Given the description of an element on the screen output the (x, y) to click on. 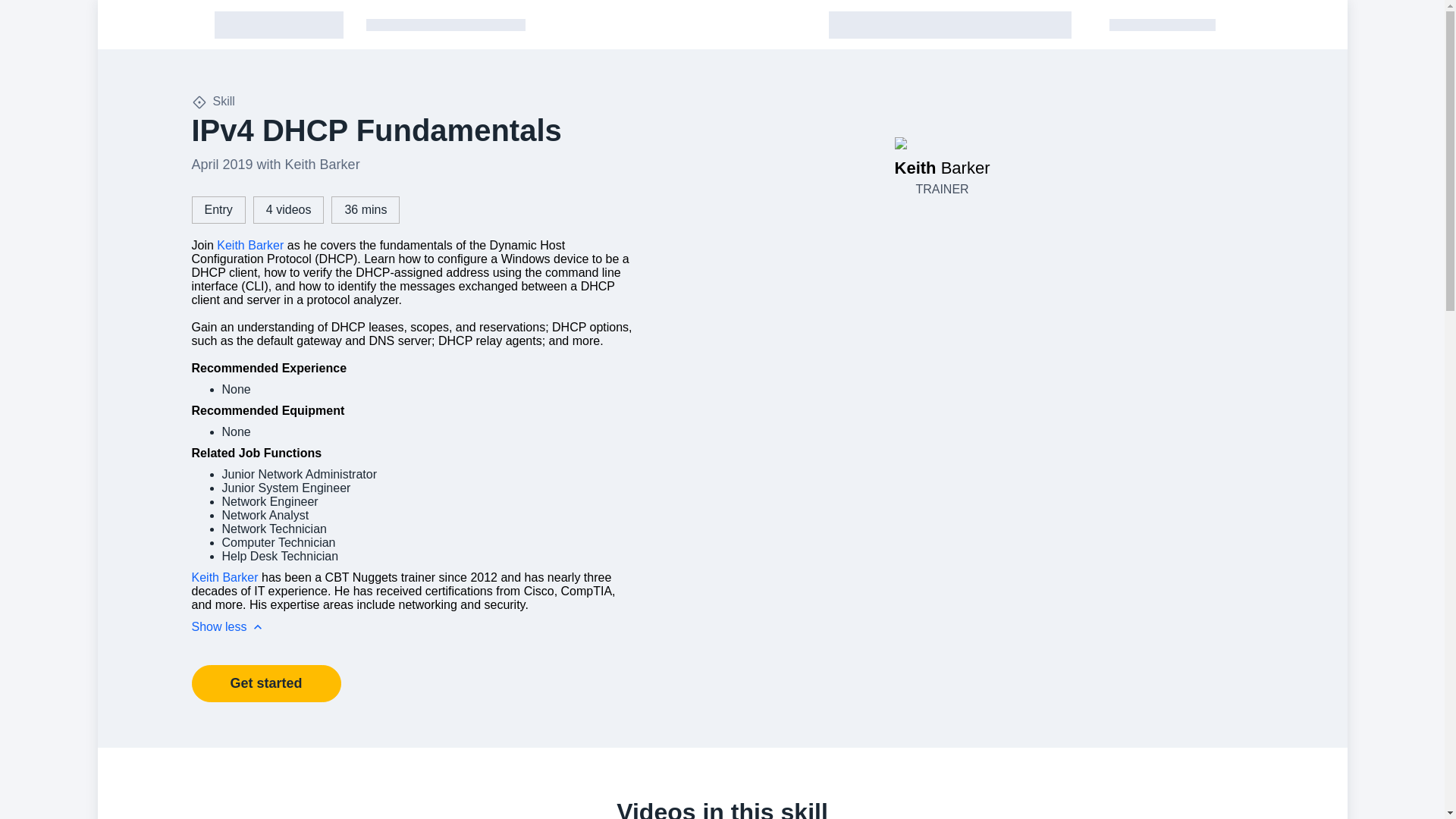
Keith Barker (223, 576)
Show less (227, 626)
Keith Barker (249, 245)
Get started (265, 683)
